Given the description of an element on the screen output the (x, y) to click on. 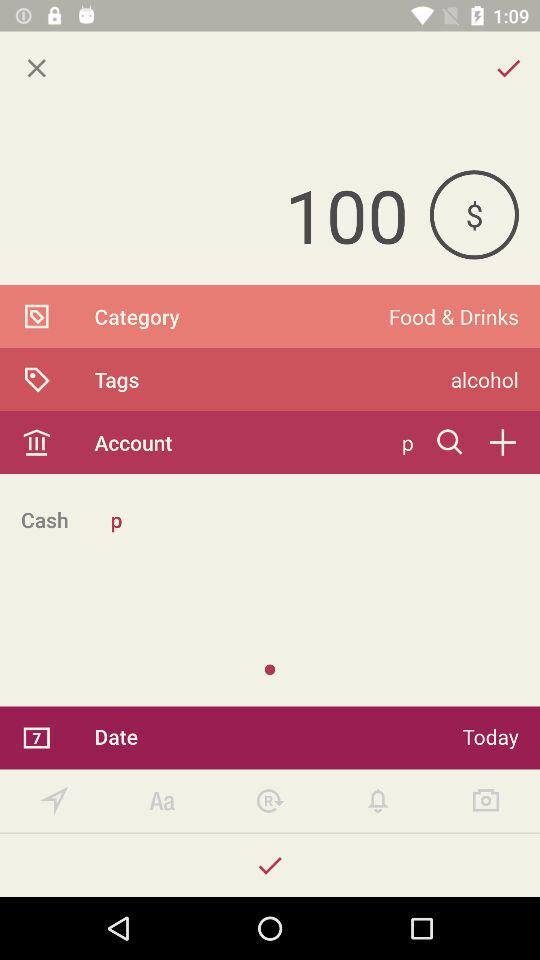
add an account (502, 442)
